Given the description of an element on the screen output the (x, y) to click on. 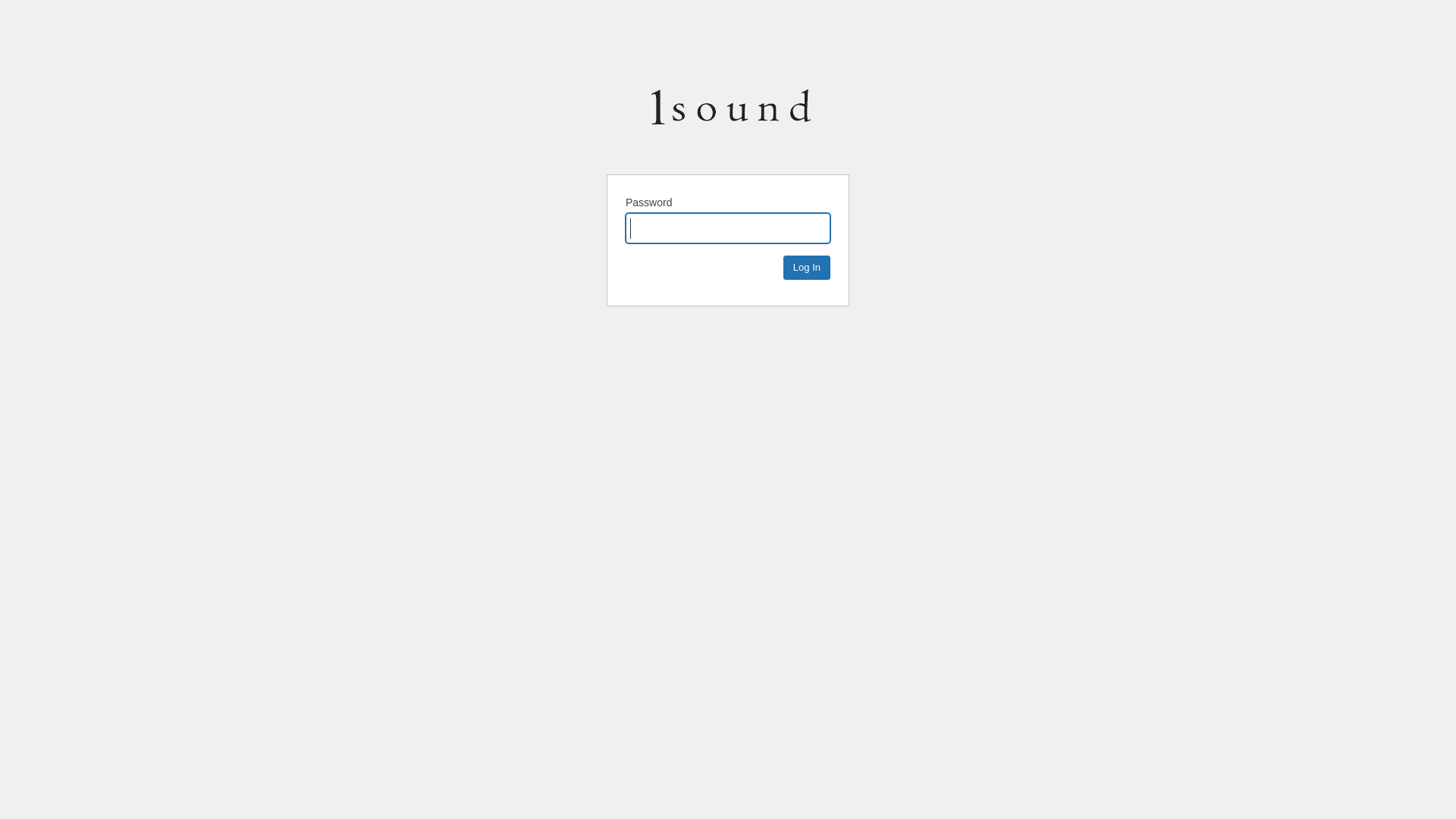
Log In Element type: text (806, 267)
1sound Element type: text (730, 113)
